Given the description of an element on the screen output the (x, y) to click on. 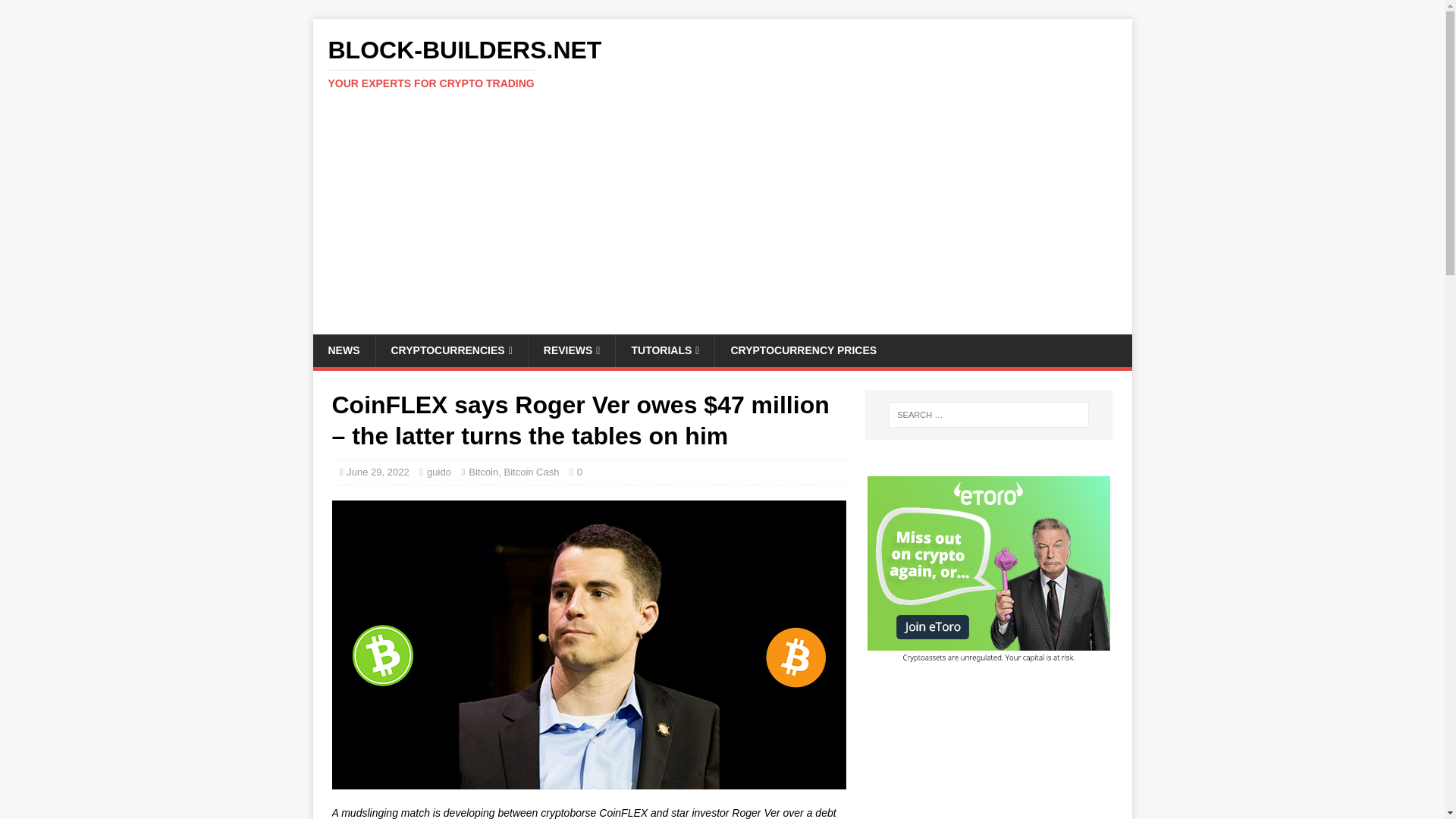
REVIEWS (721, 63)
Advertisement (571, 350)
NEWS (450, 350)
TUTORIALS (343, 350)
Block-builders.net (664, 350)
